Given the description of an element on the screen output the (x, y) to click on. 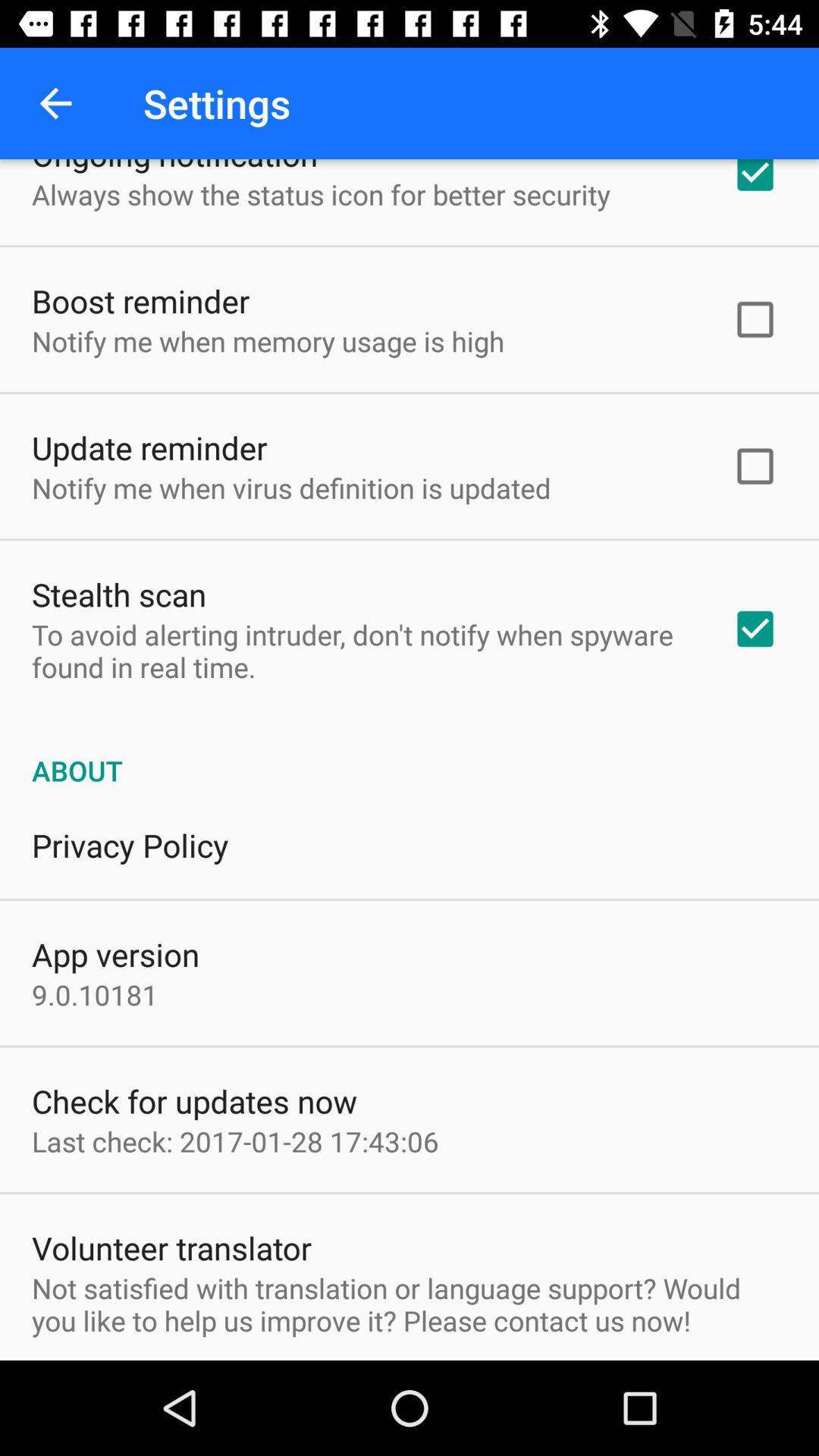
flip until last check 2017 (235, 1141)
